Given the description of an element on the screen output the (x, y) to click on. 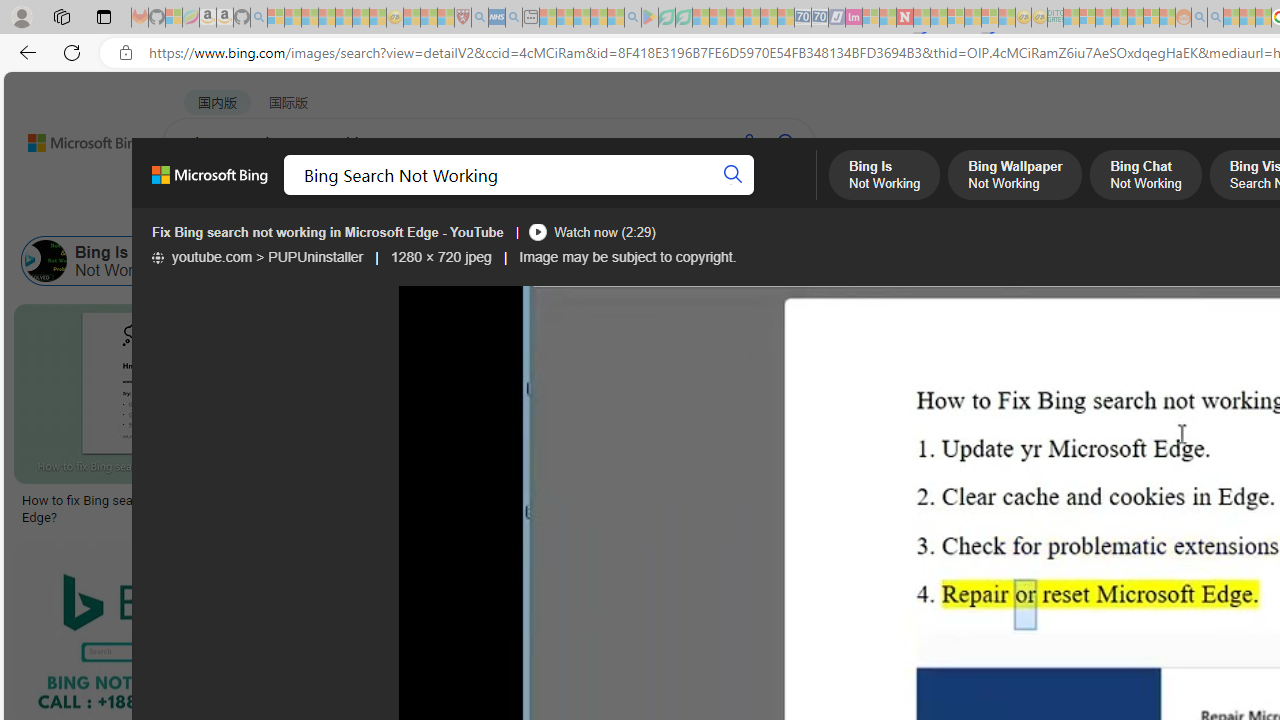
Fix Bing Search Not Working in Microsoft Edge (6 Easy Ways) (821, 508)
2:22 (365, 322)
WEB (201, 195)
Image result for Bing Search Not Working (821, 393)
Terms of Use Agreement - Sleeping (666, 17)
Pets - MSN - Sleeping (598, 17)
